Given the description of an element on the screen output the (x, y) to click on. 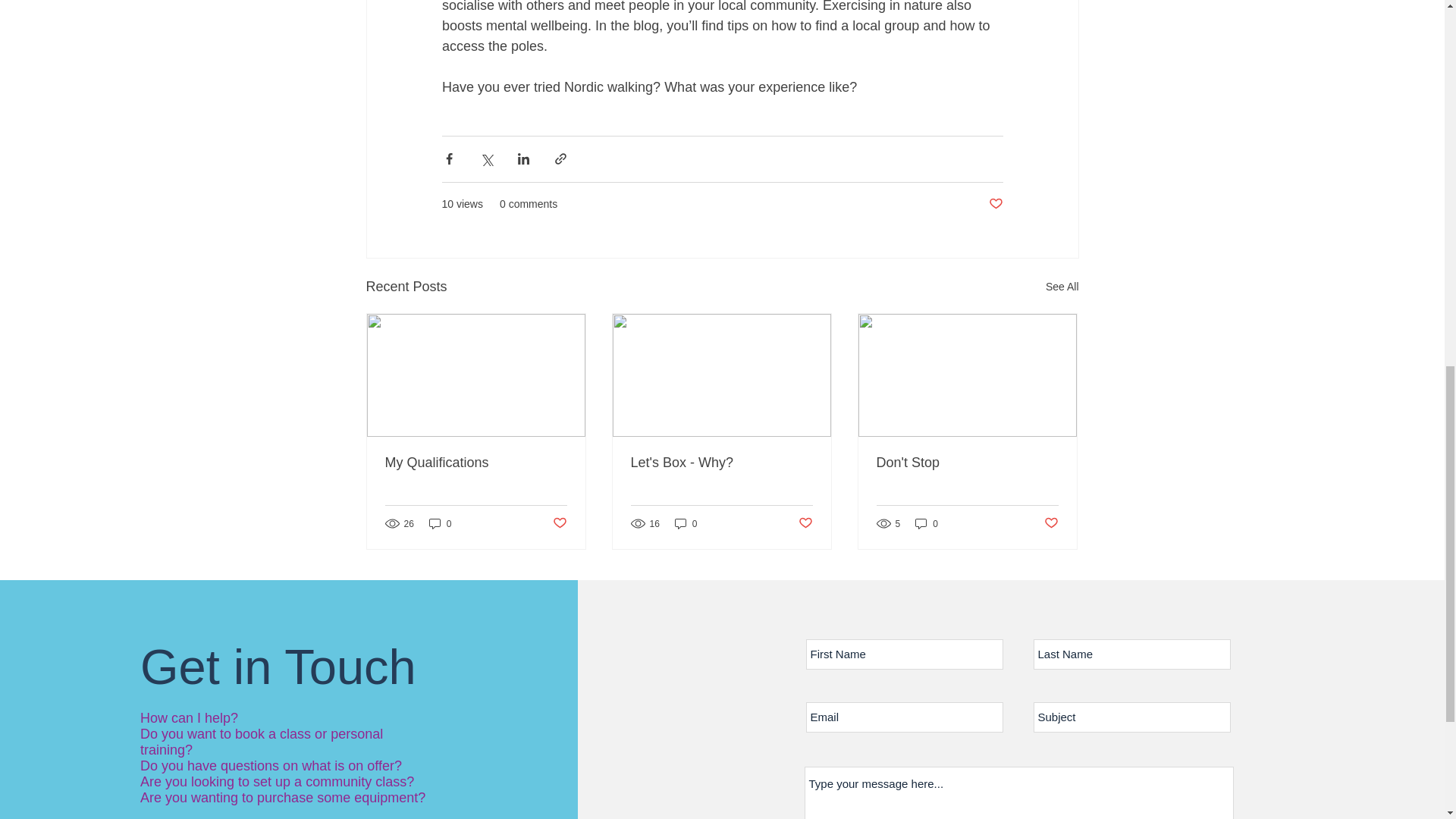
0 (440, 523)
See All (1061, 287)
Post not marked as liked (995, 204)
Don't Stop (967, 462)
Post not marked as liked (558, 523)
0 (926, 523)
Let's Box - Why? (721, 462)
Post not marked as liked (804, 523)
Post not marked as liked (1050, 523)
0 (685, 523)
